Given the description of an element on the screen output the (x, y) to click on. 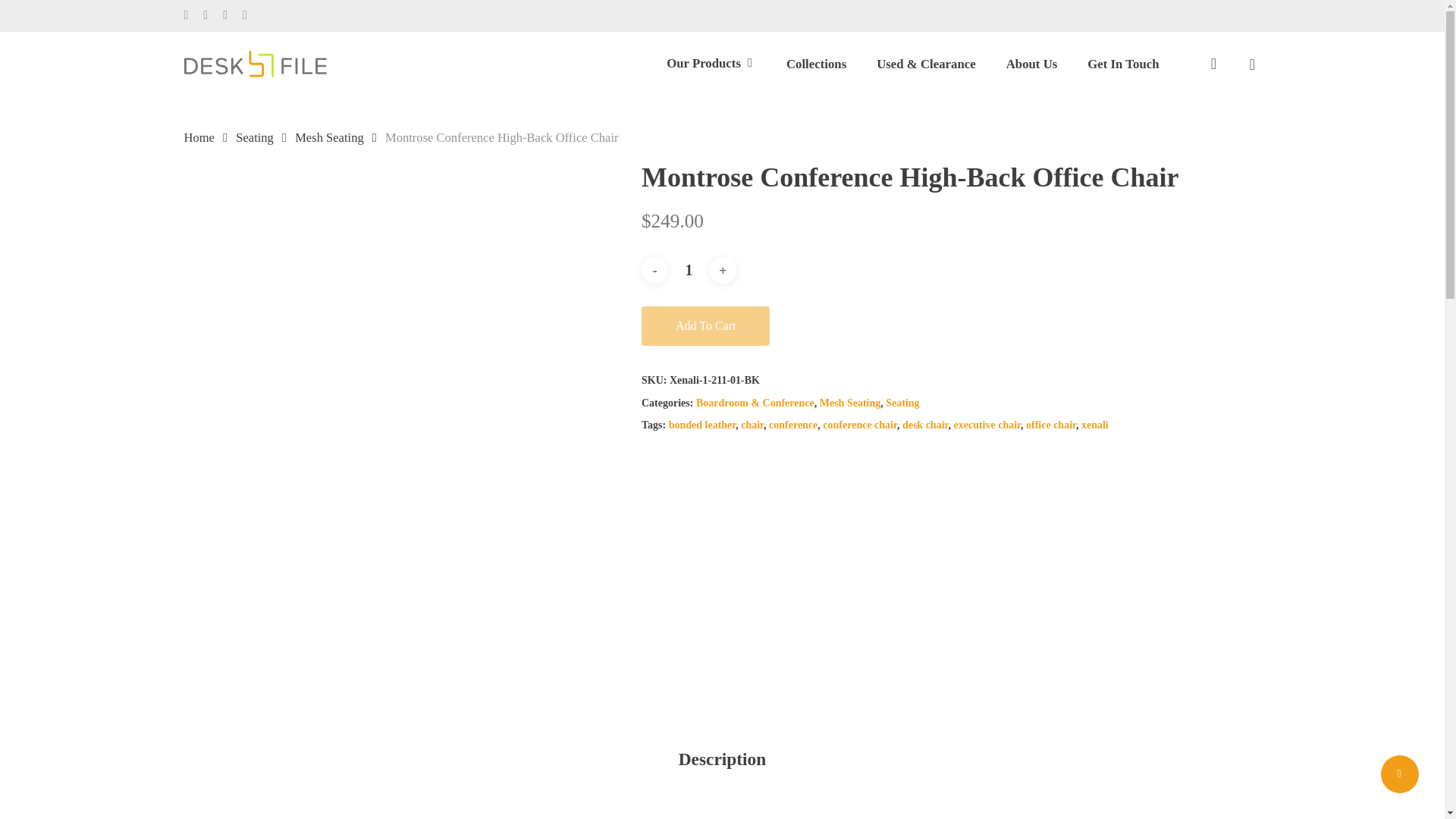
bonded leather (702, 424)
1 (688, 270)
Seating (254, 137)
Mesh Seating (849, 402)
Home (198, 137)
conference (792, 424)
chair (751, 424)
Add To Cart (706, 325)
- (655, 270)
Seating (901, 402)
